Given the description of an element on the screen output the (x, y) to click on. 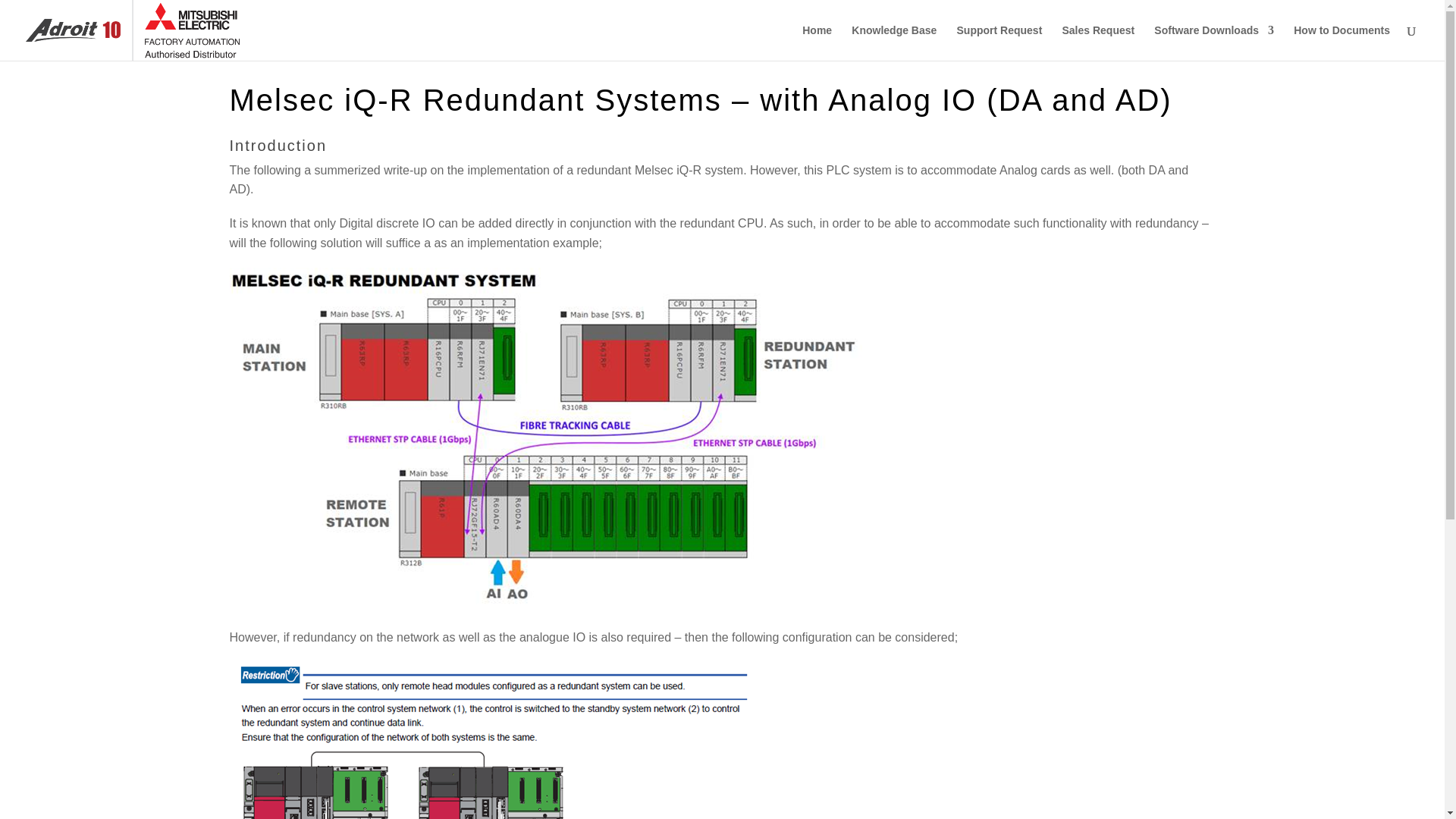
Sales Request (1097, 42)
How to Documents (1342, 42)
Software Downloads (1214, 42)
Knowledge Base (893, 42)
Support Request (999, 42)
